Given the description of an element on the screen output the (x, y) to click on. 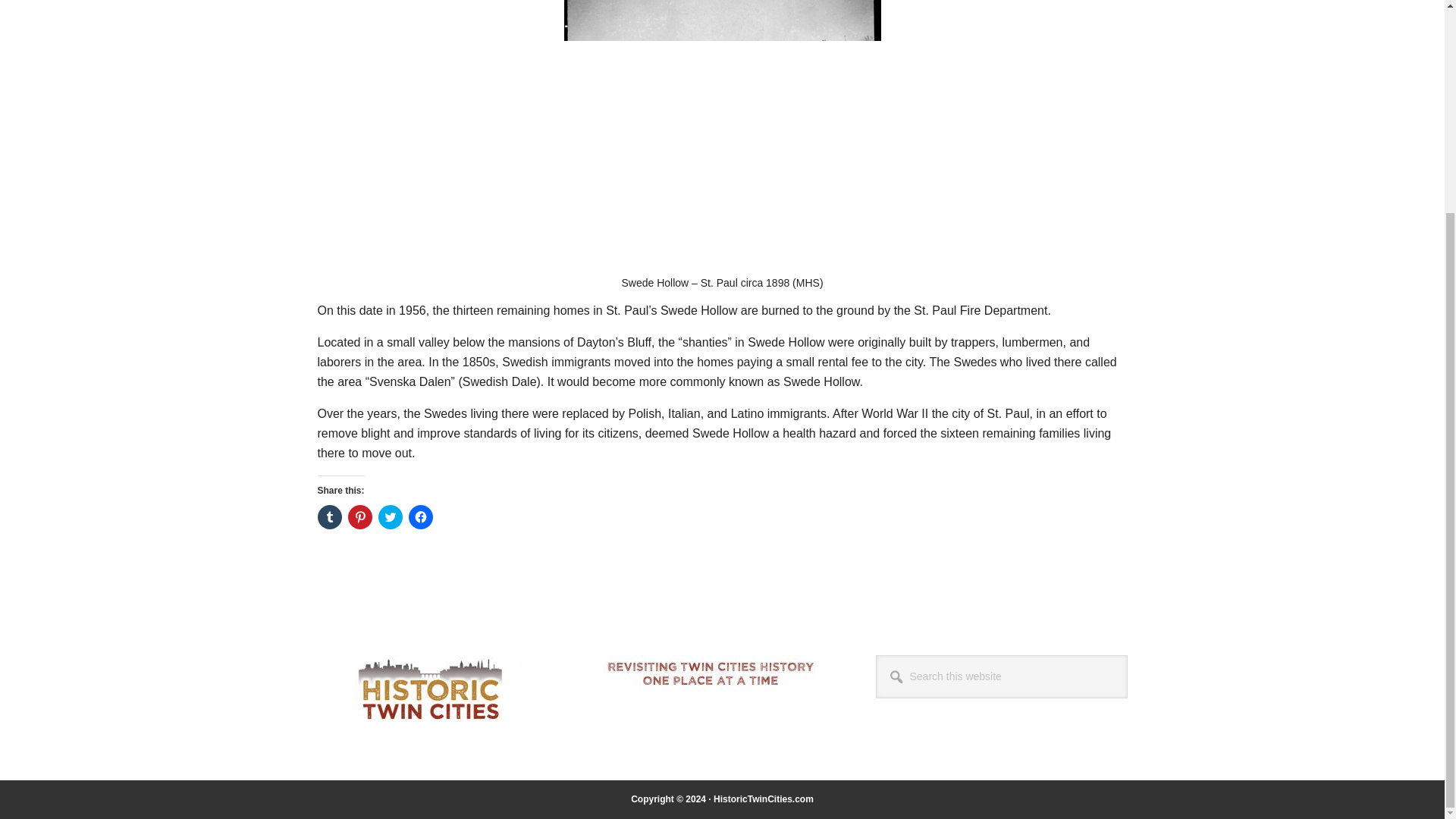
Click to share on Tumblr (328, 517)
Click to share on Pinterest (359, 517)
Click to share on Facebook (419, 517)
Click to share on Twitter (389, 517)
